Given the description of an element on the screen output the (x, y) to click on. 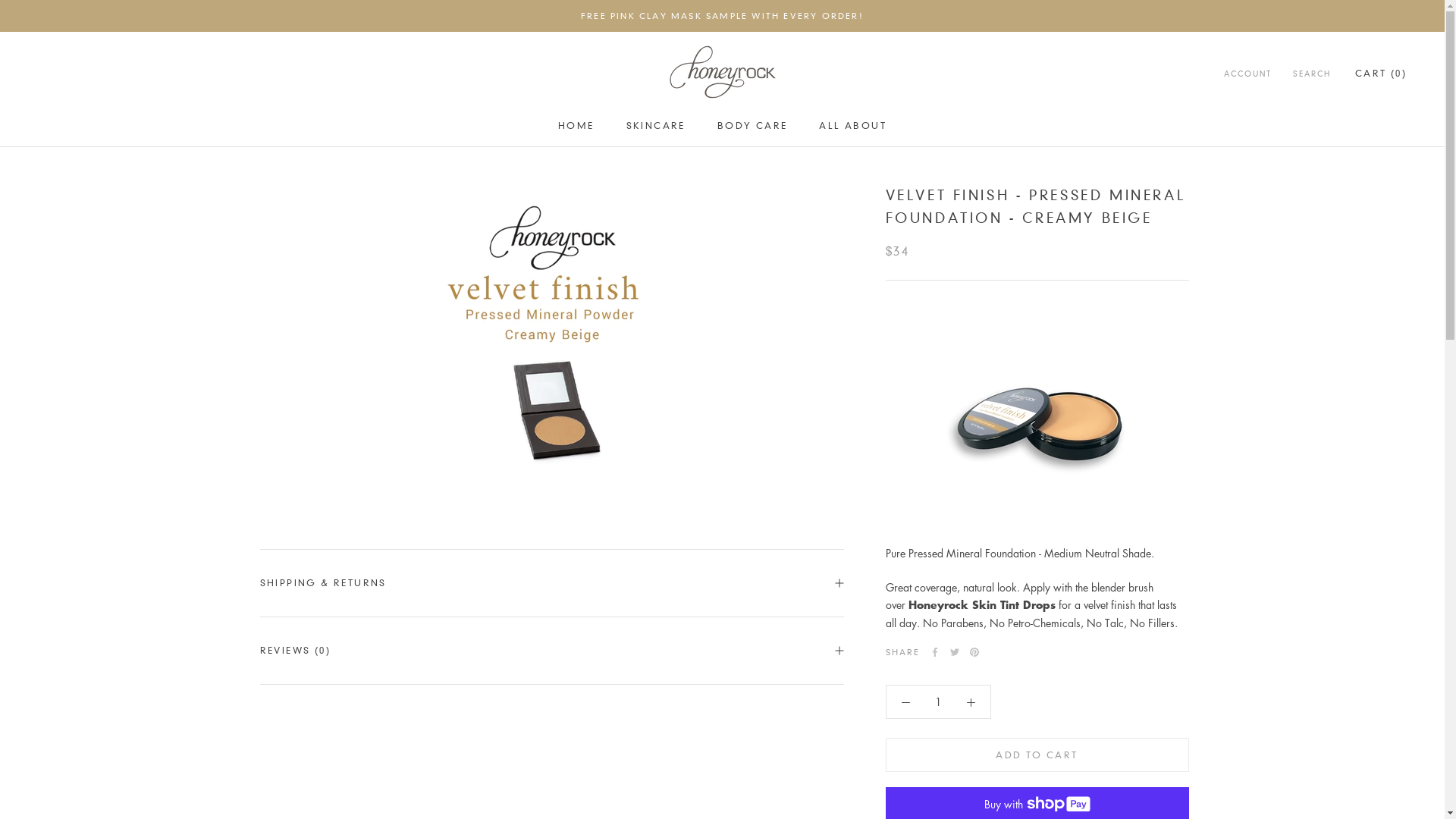
SKINCARE
SKINCARE Element type: text (655, 125)
REVIEWS (0) Element type: text (551, 650)
FREE PINK CLAY MASK SAMPLE WITH EVERY ORDER! Element type: text (721, 15)
SEARCH Element type: text (1311, 74)
BODY CARE
BODY CARE Element type: text (752, 125)
ACCOUNT Element type: text (1247, 74)
HOME
HOME Element type: text (576, 125)
ADD TO CART Element type: text (1037, 754)
ALL ABOUT Element type: text (852, 125)
CART (0) Element type: text (1380, 72)
SHIPPING & RETURNS Element type: text (551, 582)
